Given the description of an element on the screen output the (x, y) to click on. 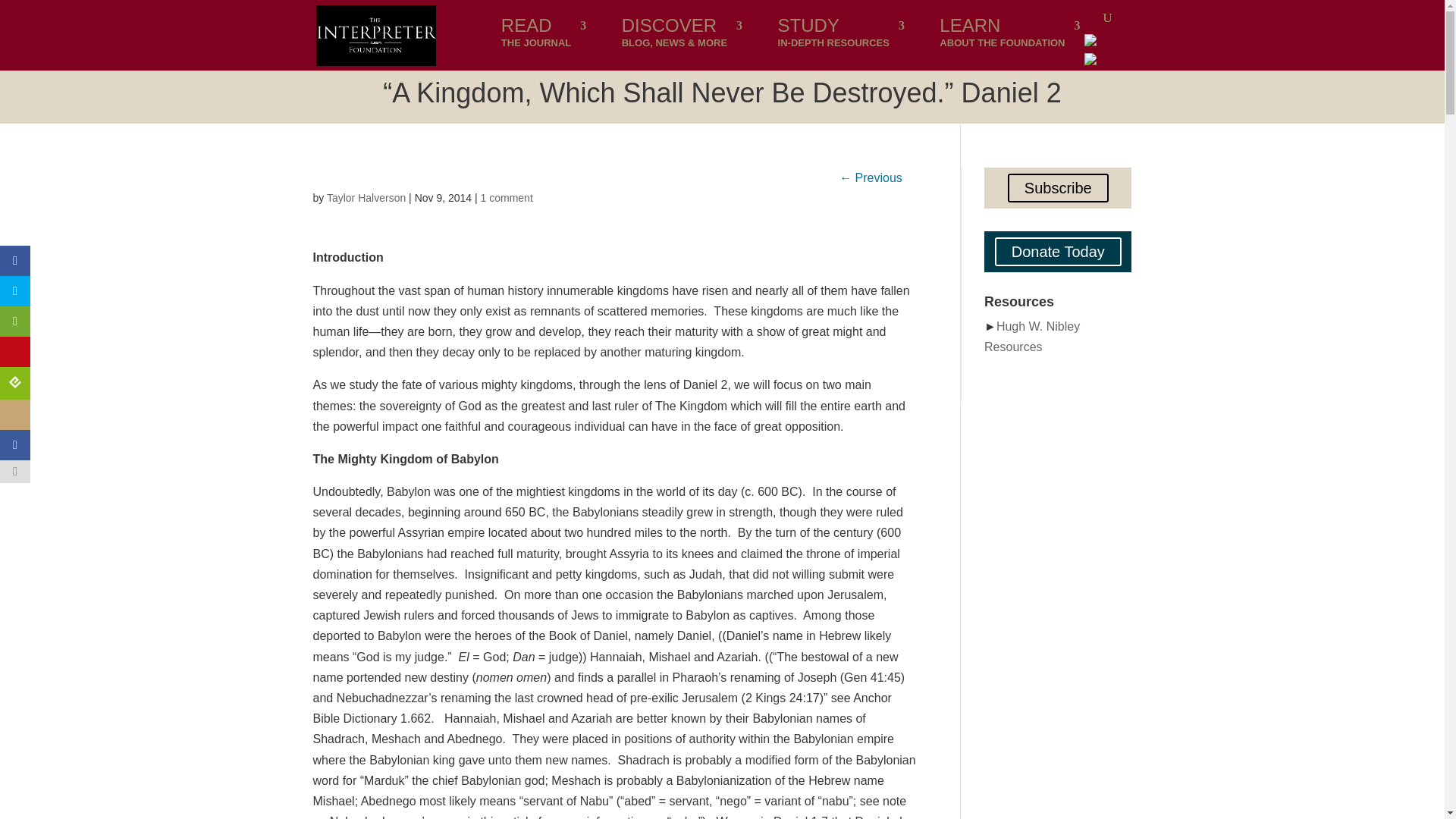
sidebar (15, 351)
sidebar (543, 39)
Taylor Halverson (15, 321)
sidebar (366, 197)
sidebar (15, 260)
